Given the description of an element on the screen output the (x, y) to click on. 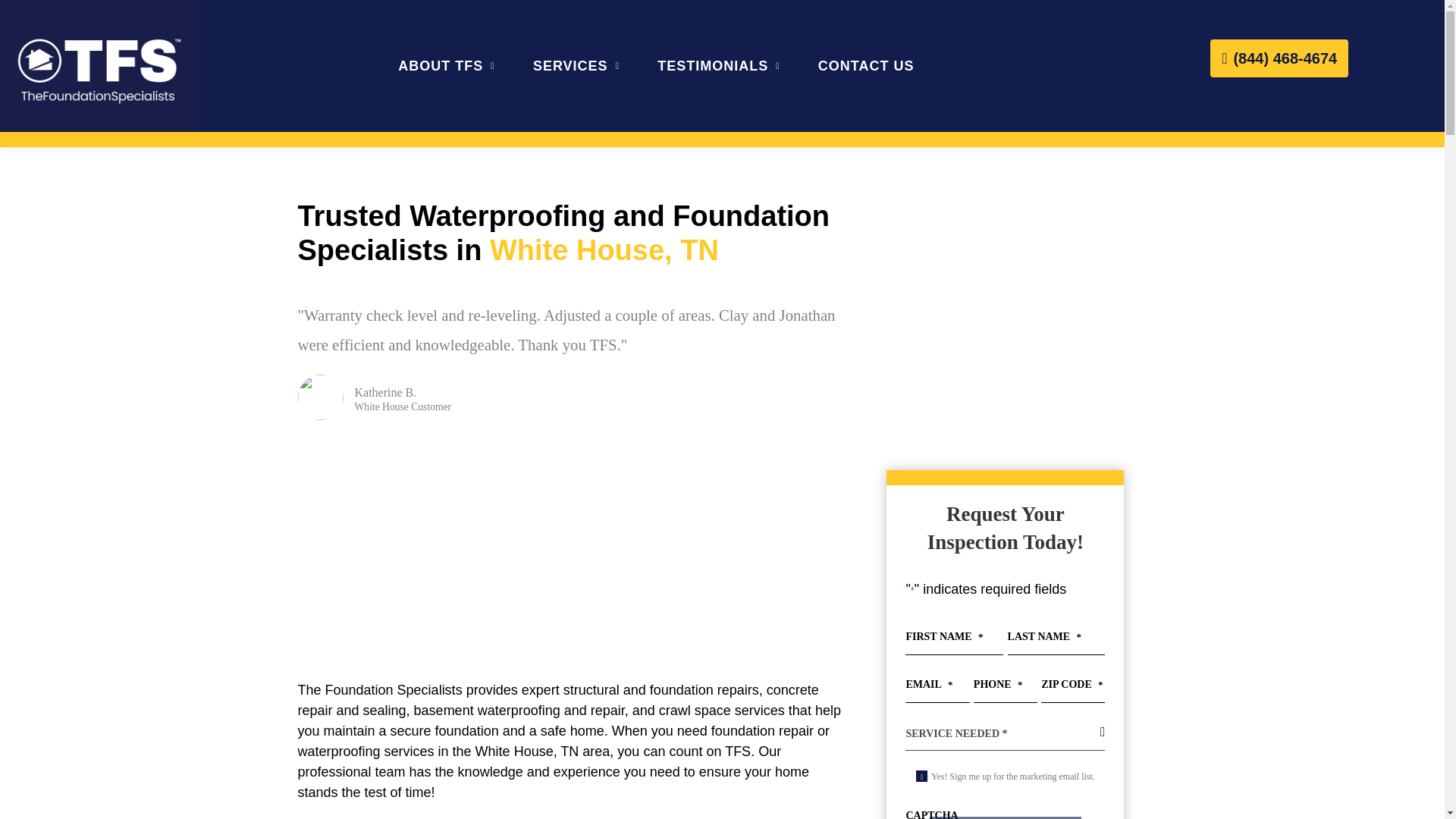
Send Request (1005, 817)
CONTACT US (866, 65)
SERVICES (576, 65)
White House, TN (569, 551)
ABOUT TFS (446, 65)
white-logo-1.png (99, 65)
TESTIMONIALS (719, 65)
